Given the description of an element on the screen output the (x, y) to click on. 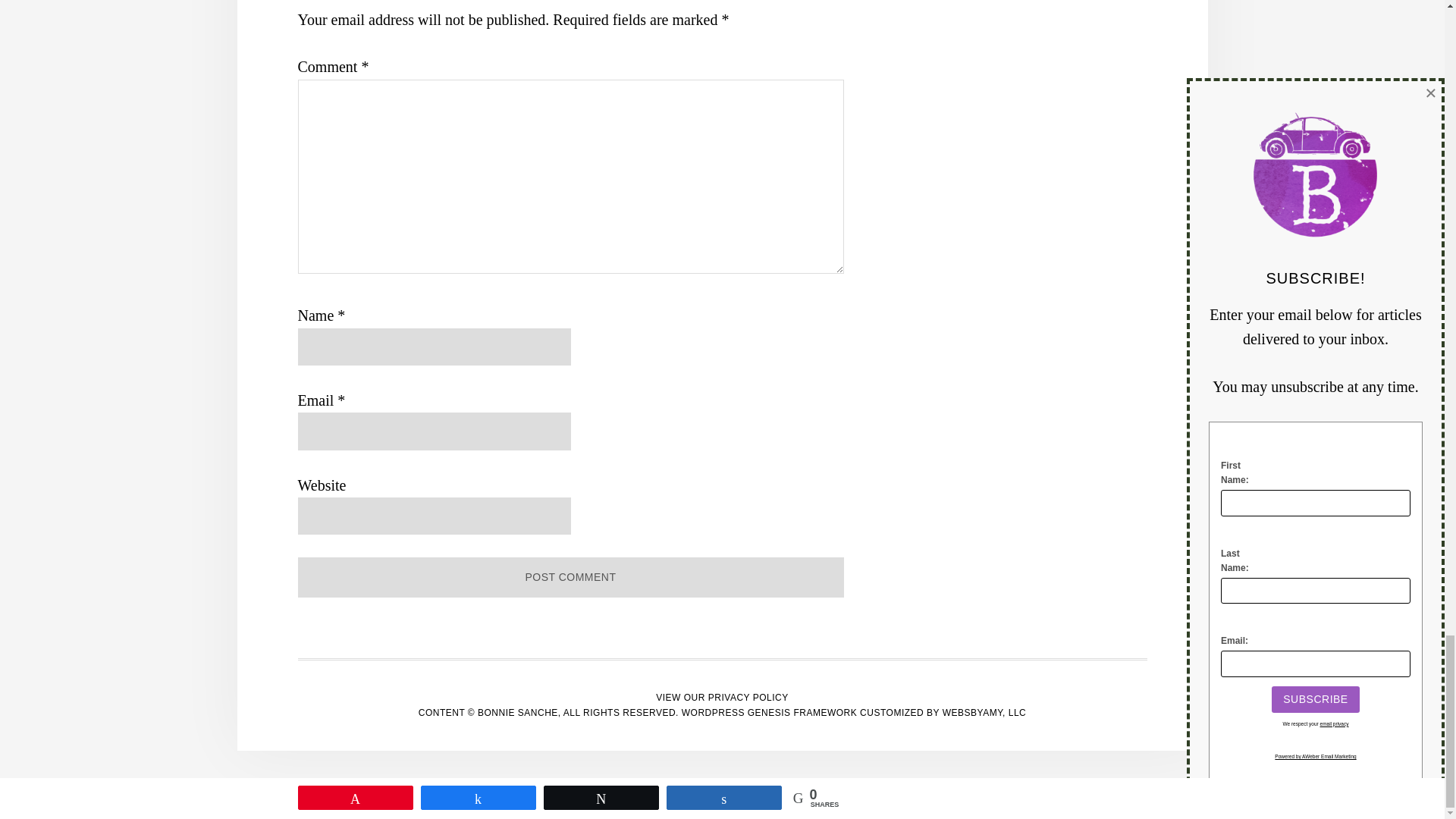
Post Comment (570, 577)
